Given the description of an element on the screen output the (x, y) to click on. 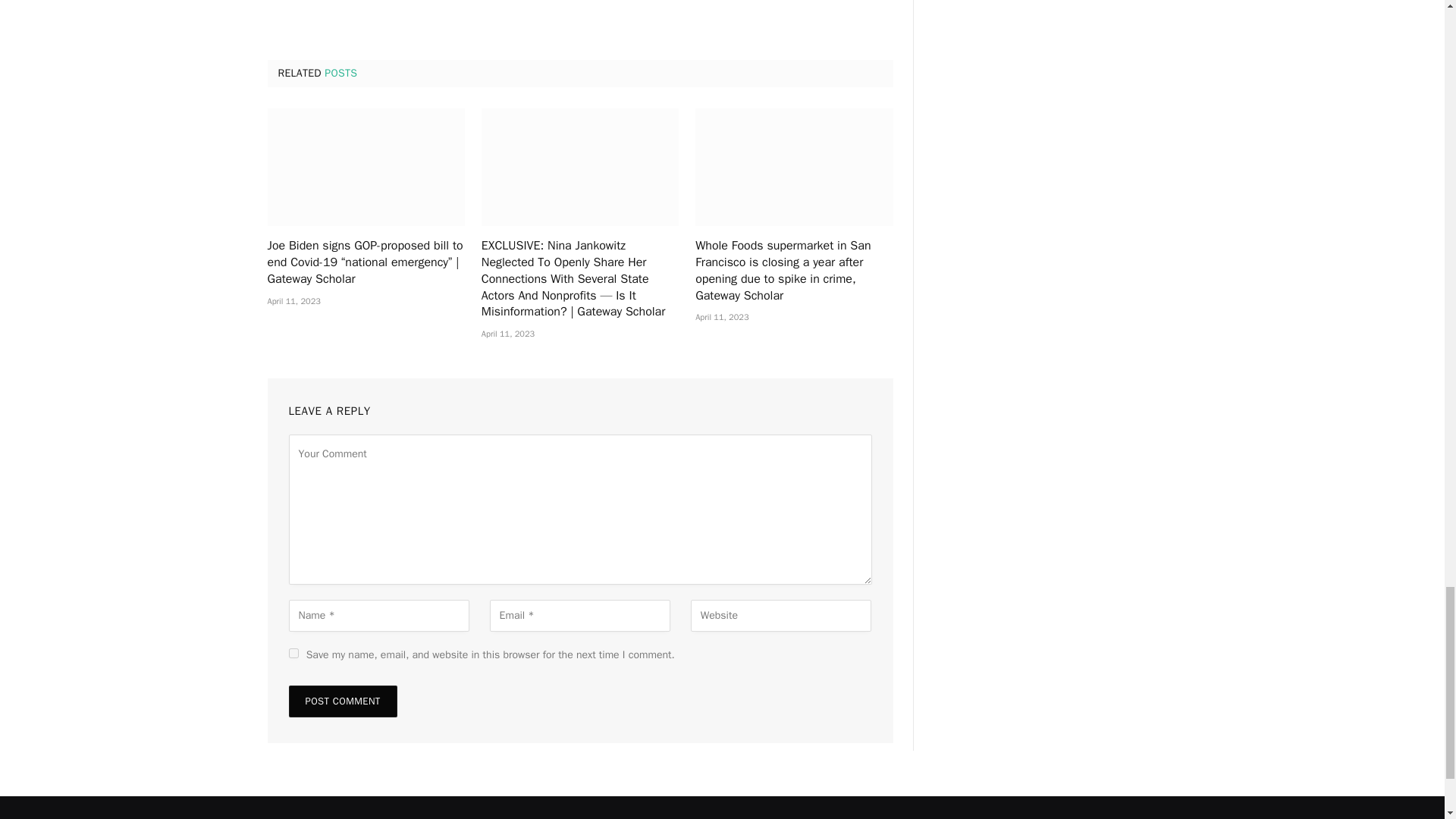
Post Comment (342, 701)
yes (293, 653)
